Given the description of an element on the screen output the (x, y) to click on. 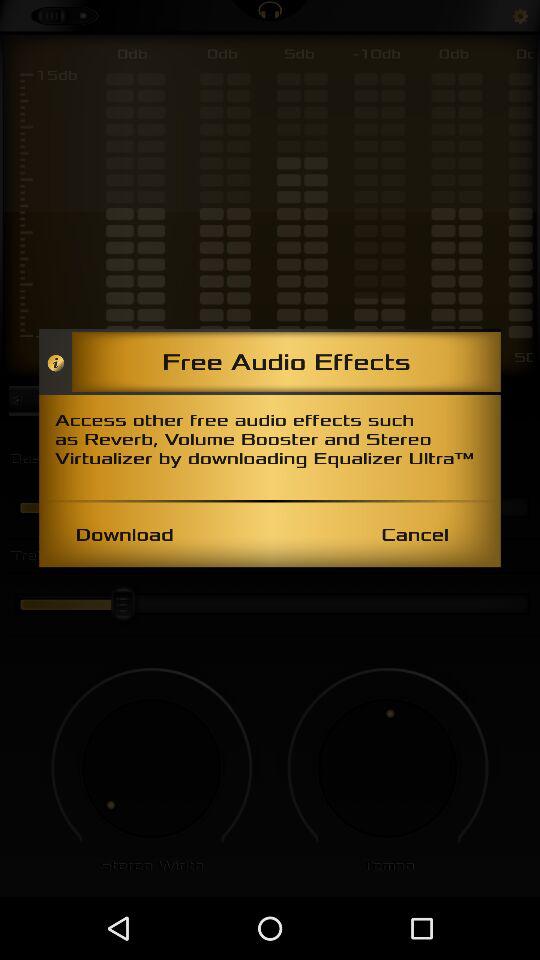
swipe until the download icon (124, 534)
